Given the description of an element on the screen output the (x, y) to click on. 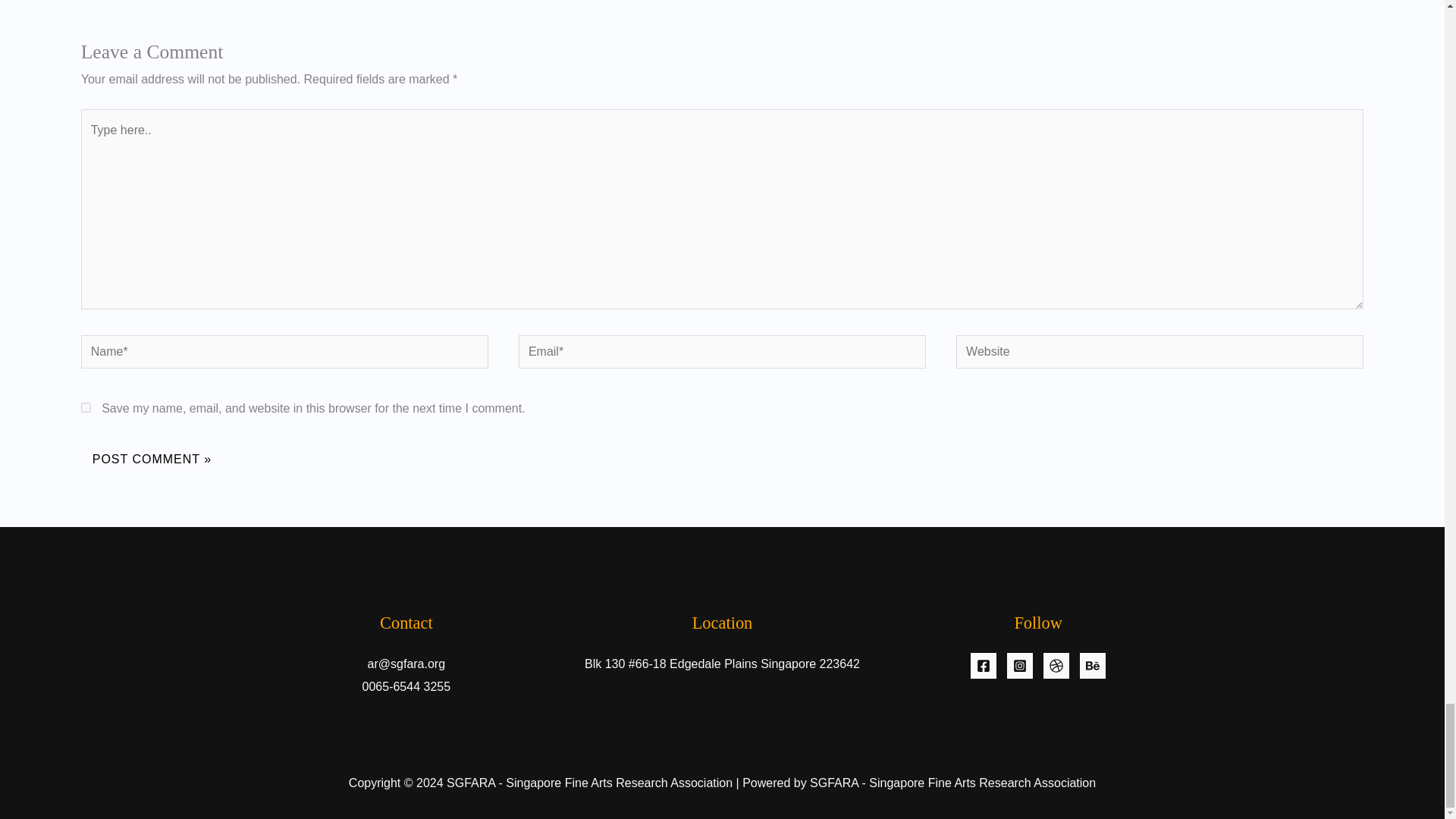
yes (85, 407)
